Given the description of an element on the screen output the (x, y) to click on. 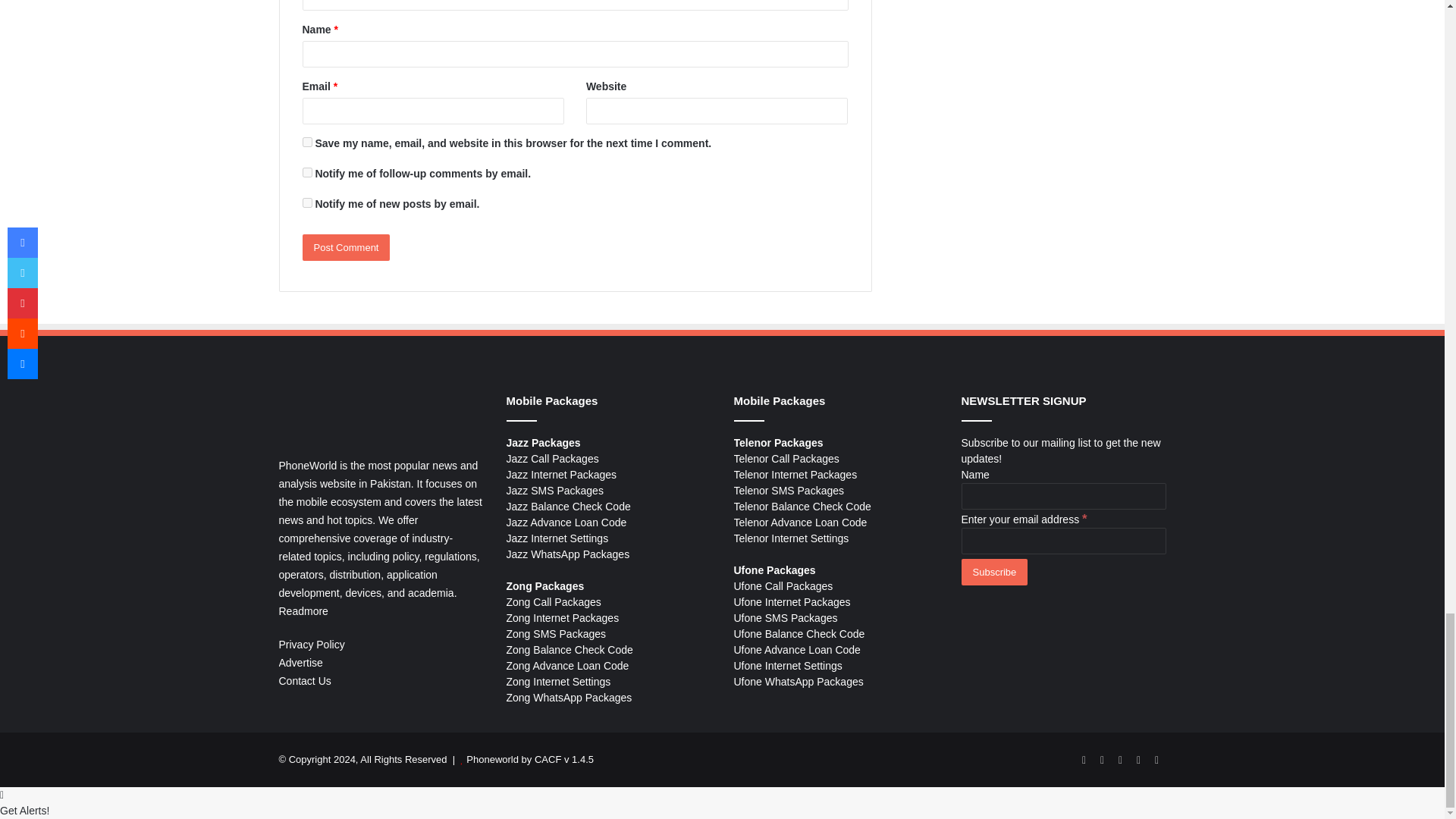
Post Comment (345, 247)
subscribe (306, 203)
Subscribe (993, 571)
yes (306, 142)
subscribe (306, 172)
